Given the description of an element on the screen output the (x, y) to click on. 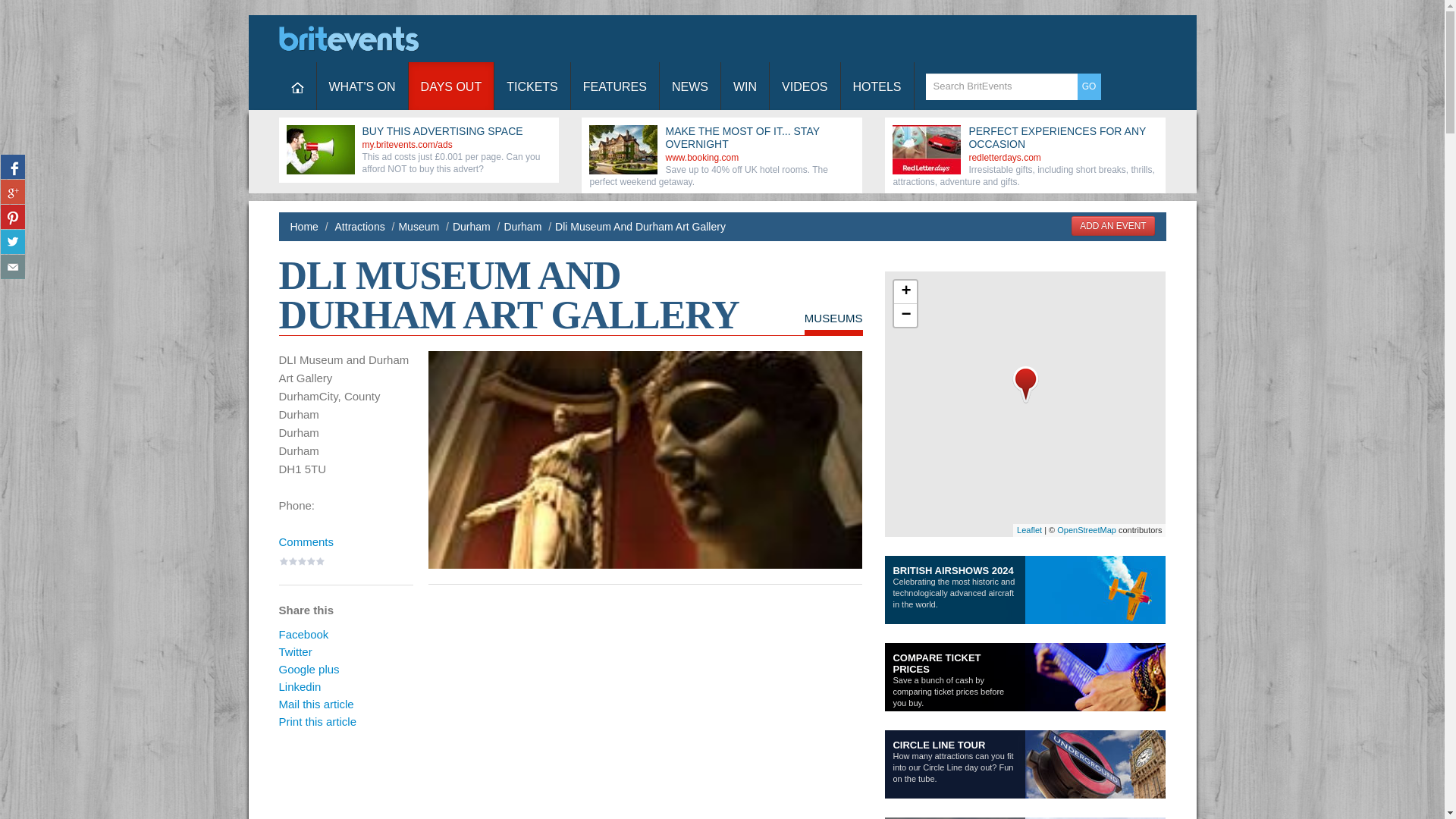
WHAT'S ON (363, 85)
Share on Twitter (12, 241)
Share on Facebook (12, 166)
Zoom out (905, 314)
A JS library for interactive maps (1029, 529)
Pin It (12, 216)
Zoom in (905, 291)
Email this to a friend (12, 266)
DAYS OUT (452, 85)
